Given the description of an element on the screen output the (x, y) to click on. 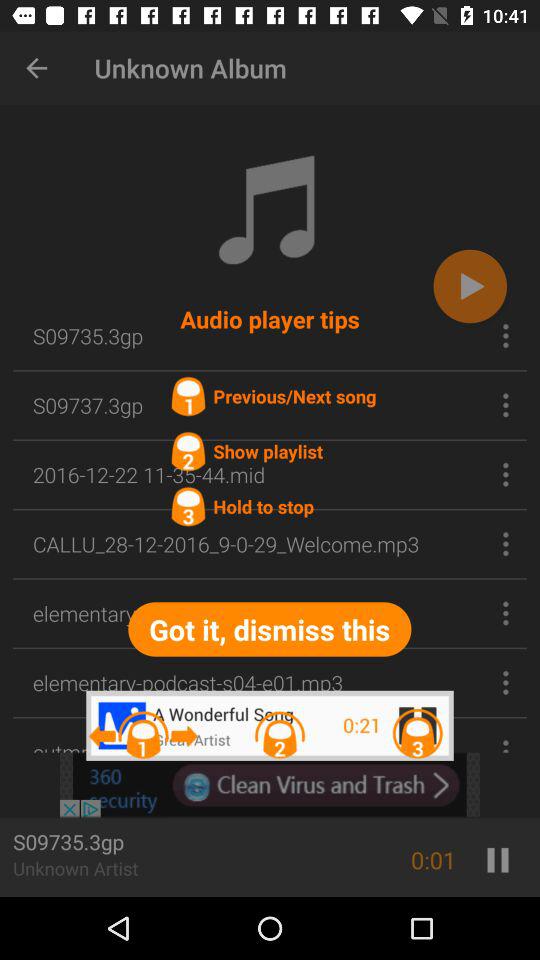
select the button got it dismiss this (268, 628)
